Given the description of an element on the screen output the (x, y) to click on. 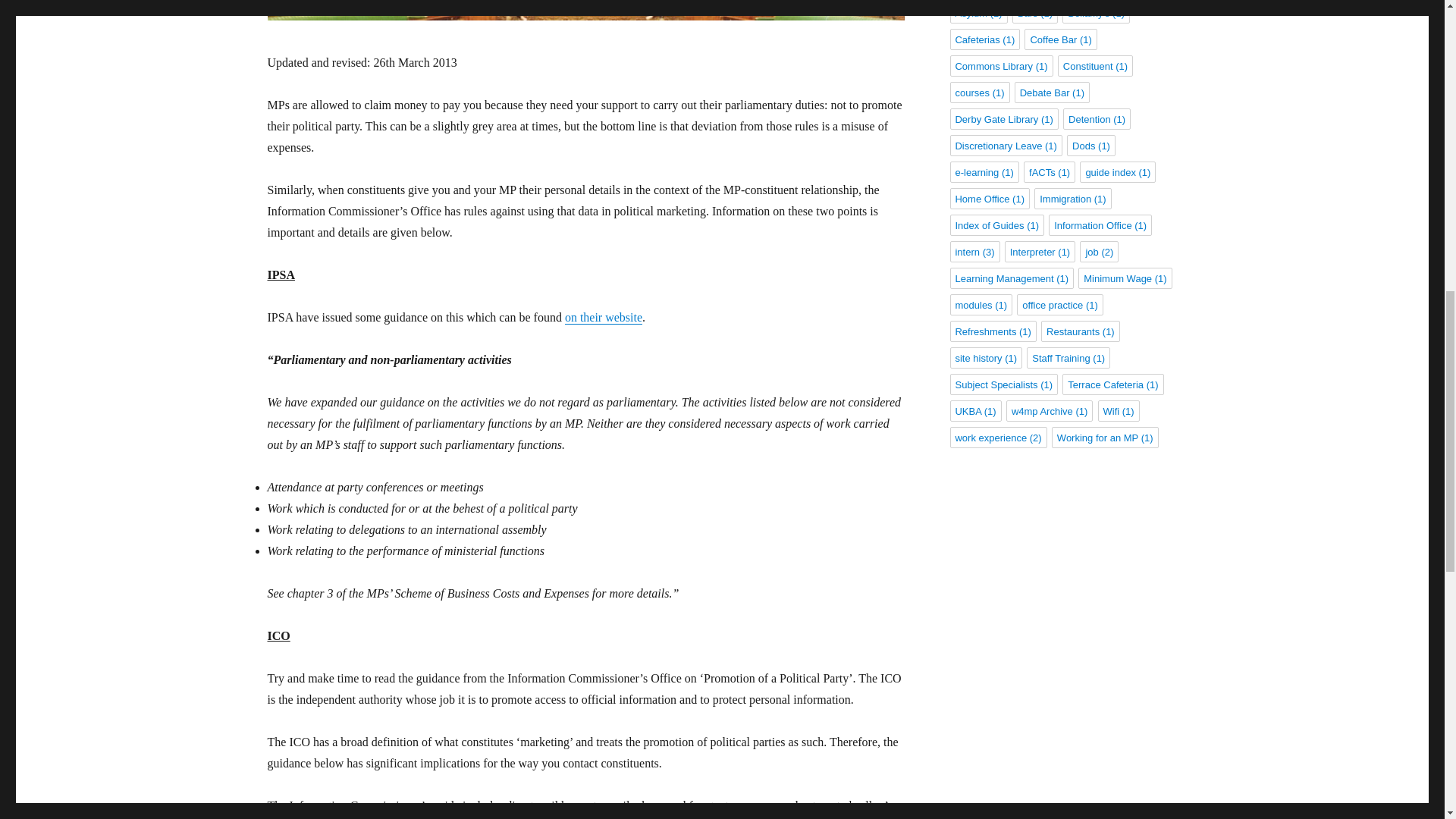
on their website (603, 317)
